Given the description of an element on the screen output the (x, y) to click on. 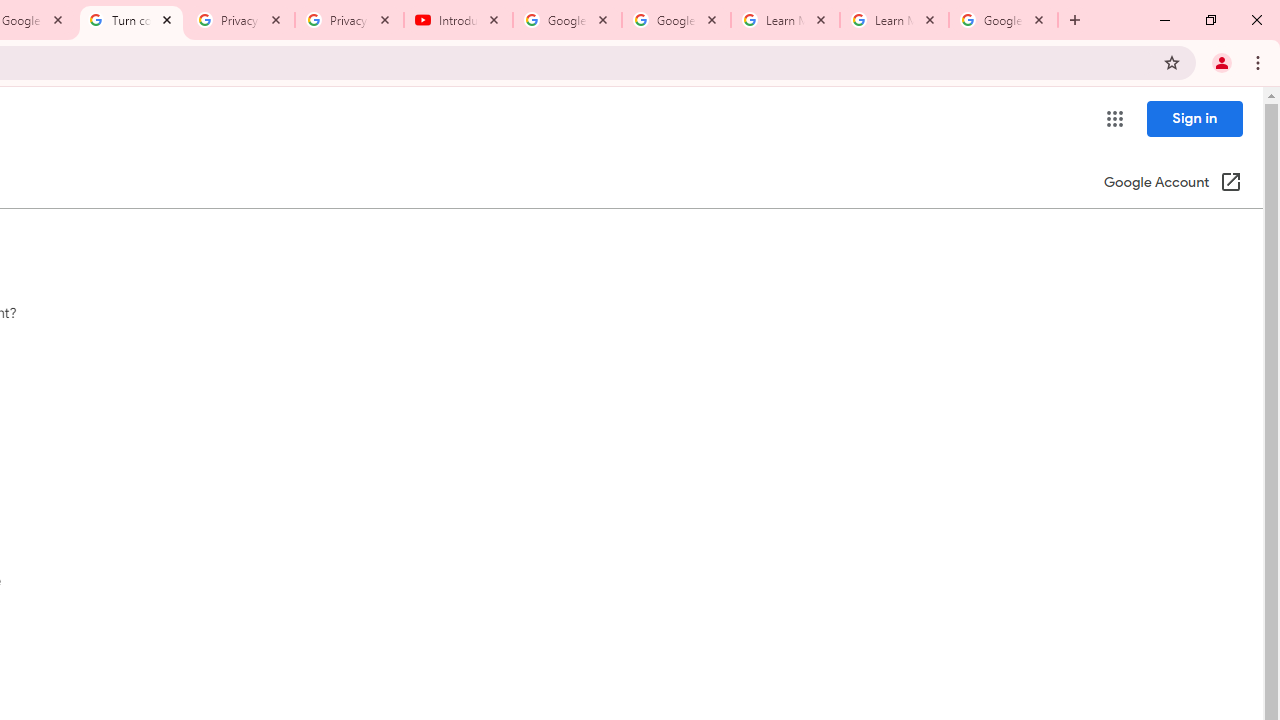
Introduction | Google Privacy Policy - YouTube (458, 20)
